Given the description of an element on the screen output the (x, y) to click on. 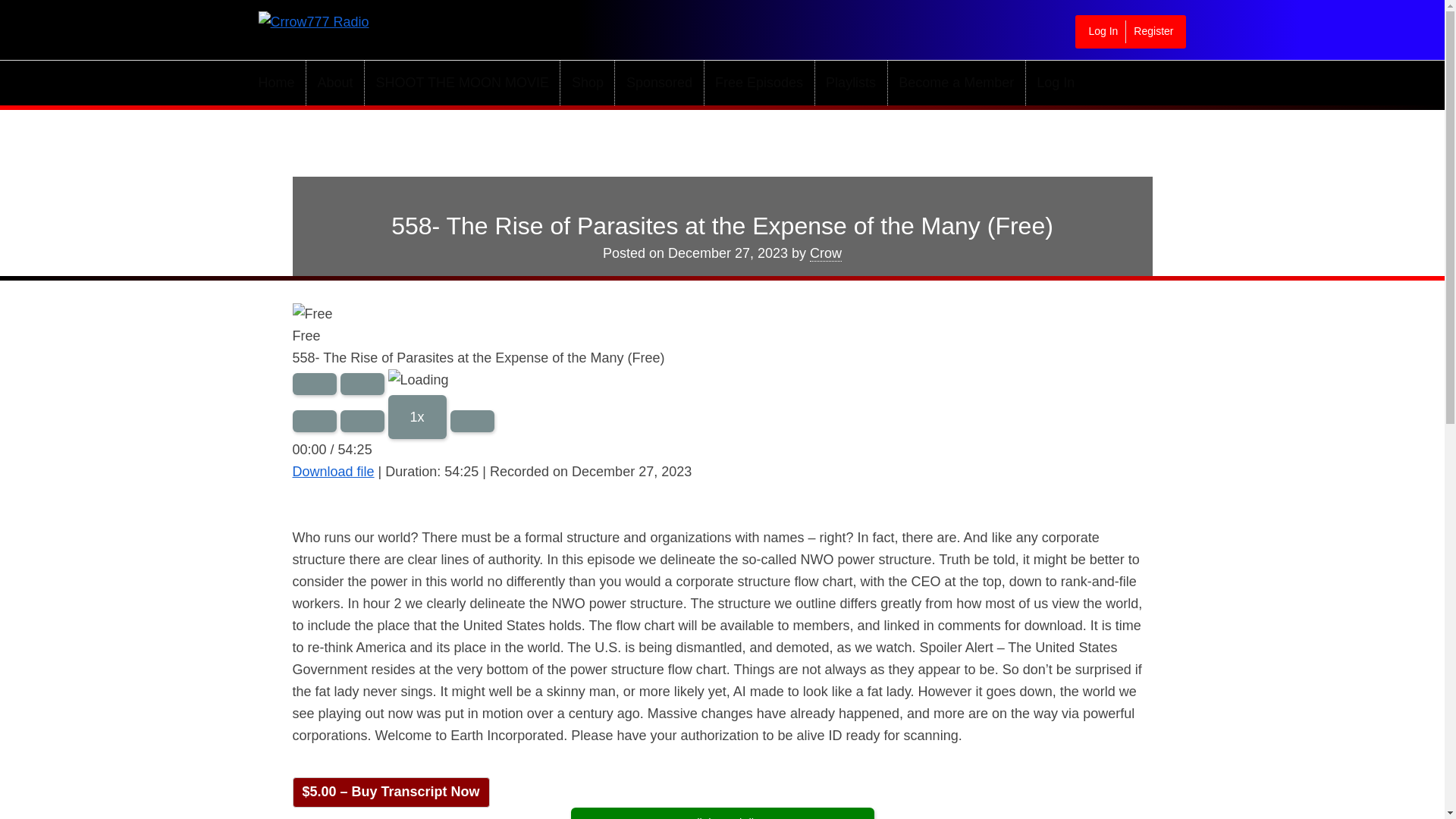
Rewind 10 seconds (362, 421)
Home (281, 82)
Pause (362, 383)
Log In (1055, 82)
Crrow777 Radio (344, 26)
Playback Speed (417, 416)
Crow (825, 253)
Free Episodes (758, 82)
1x (417, 416)
About (334, 82)
